Given the description of an element on the screen output the (x, y) to click on. 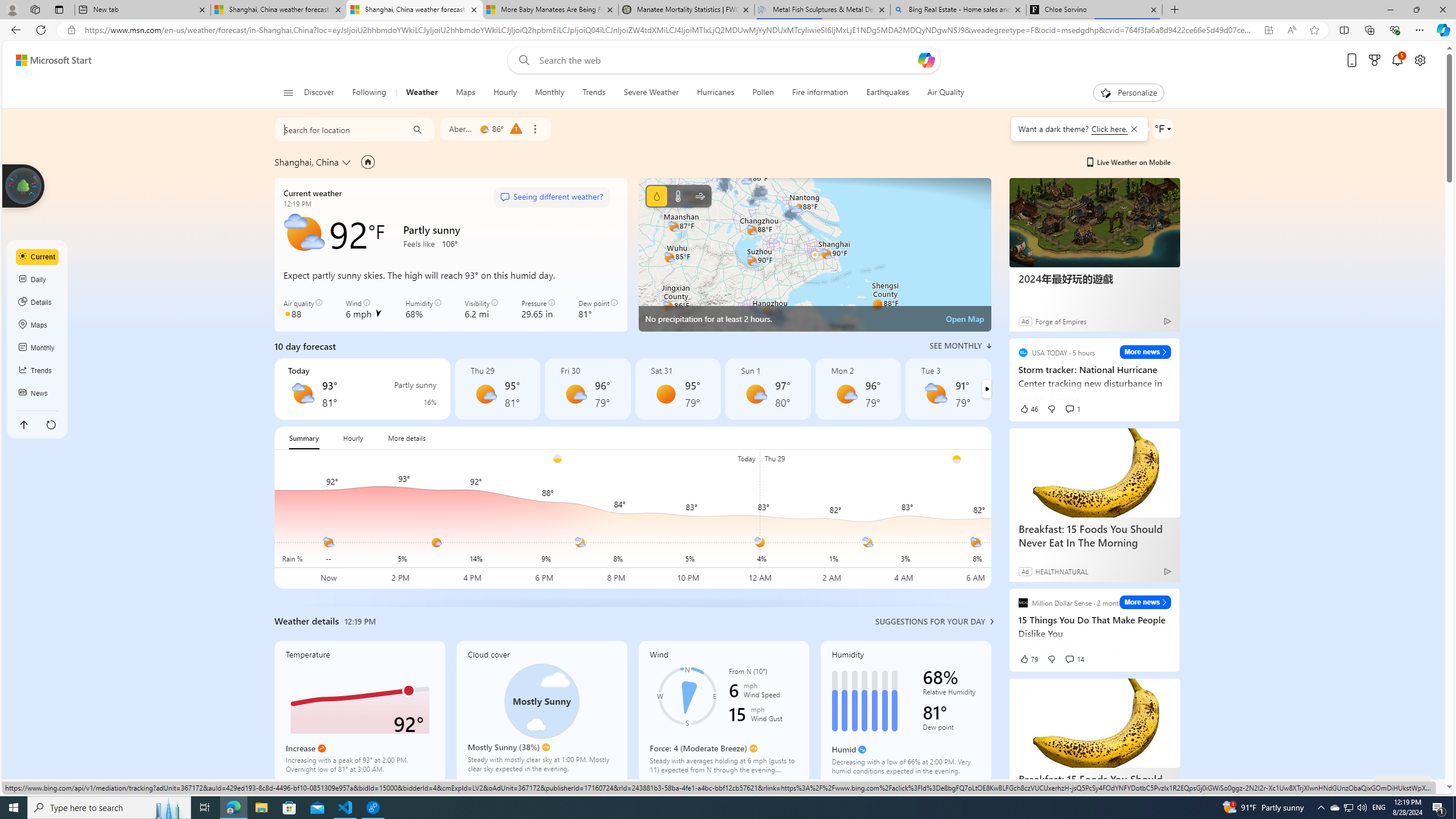
Trends (37, 370)
Temperature (678, 195)
Earthquakes (887, 92)
No precipitation for at least 2 hours (814, 254)
Back to top (23, 424)
Open Copilot (925, 59)
Air Quality (945, 92)
App bar (728, 29)
Suggestions for your day (930, 620)
New Tab (1174, 9)
Maps (465, 92)
